Given the description of an element on the screen output the (x, y) to click on. 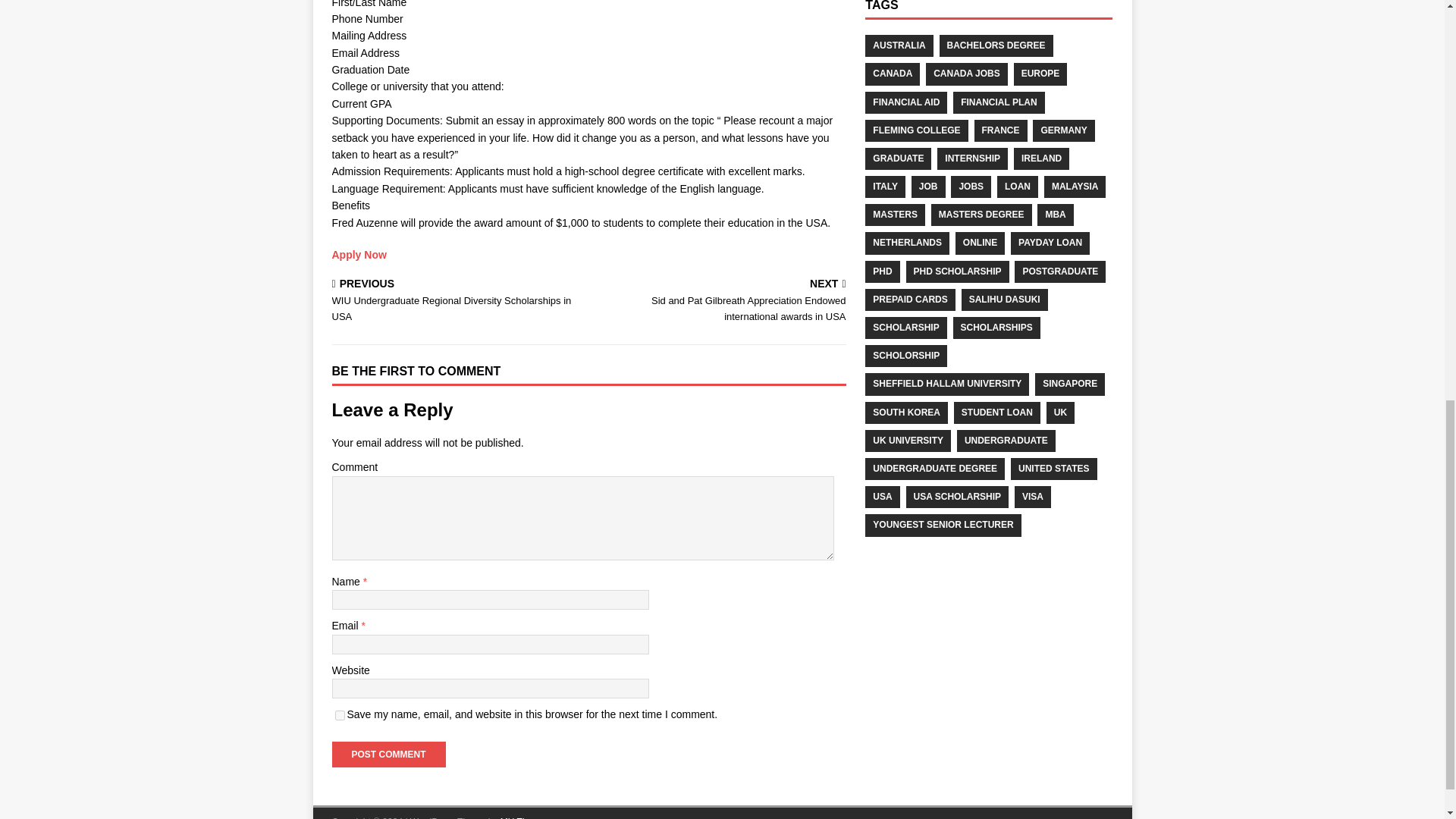
yes (339, 715)
Post Comment (388, 754)
Apply Now (359, 254)
Post Comment (388, 754)
